Given the description of an element on the screen output the (x, y) to click on. 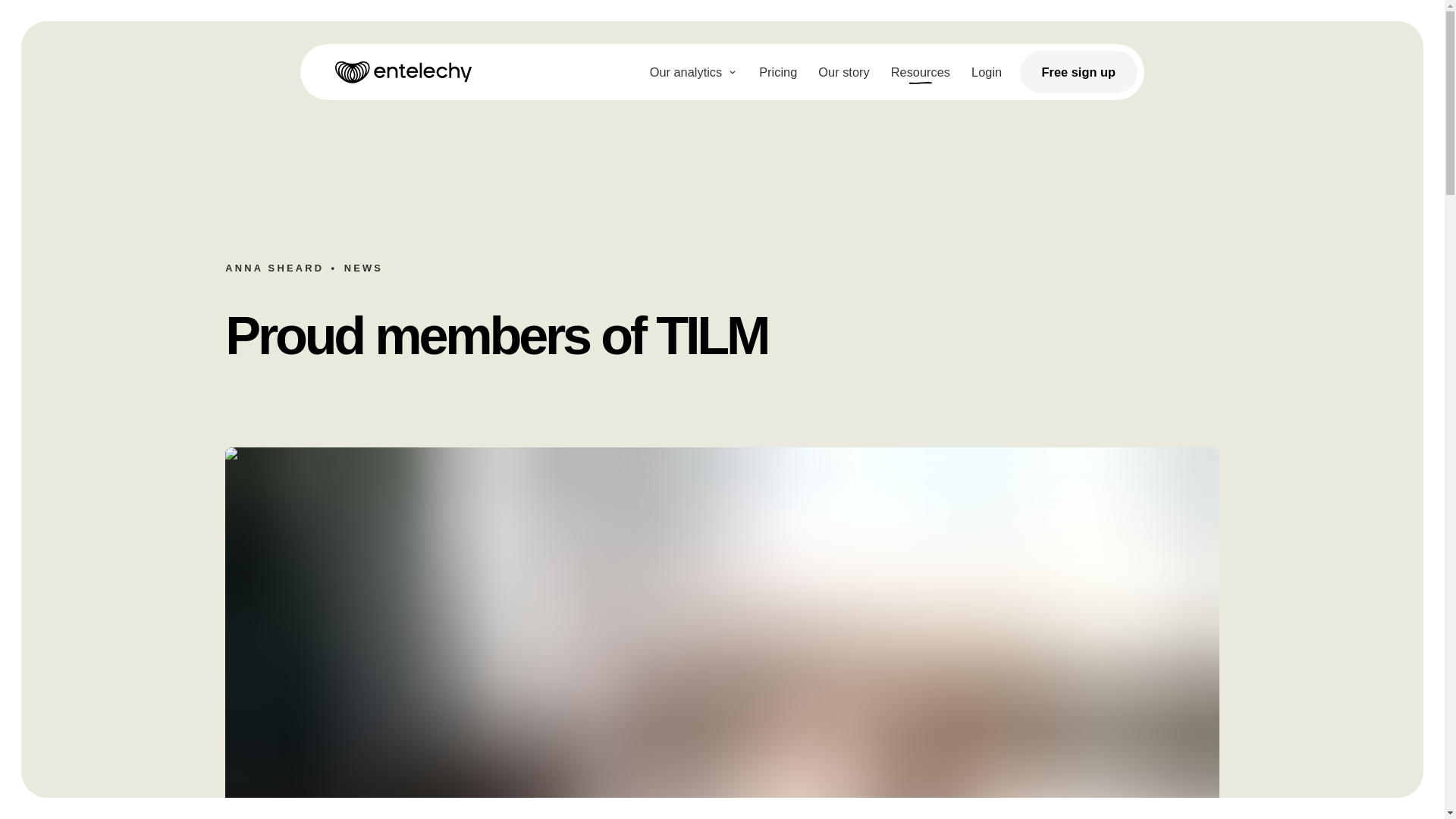
NEWS (362, 267)
Our analytics  (694, 72)
Resources (920, 72)
Our story (843, 72)
Login (985, 72)
Free sign up (1079, 71)
Pricing (778, 72)
ANNA SHEARD (274, 267)
